Given the description of an element on the screen output the (x, y) to click on. 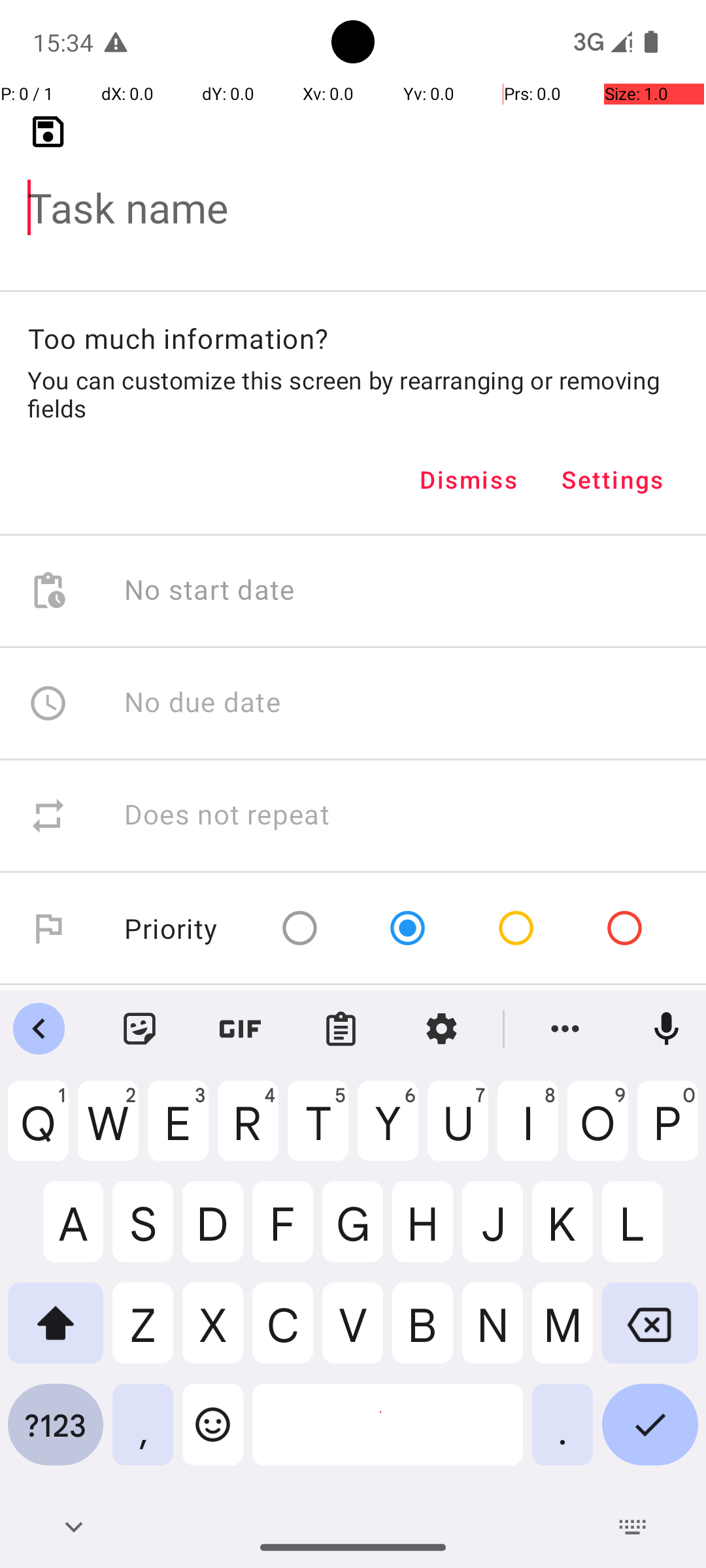
Task name Element type: android.widget.EditText (353, 186)
No due date Element type: android.widget.TextView (202, 702)
No start date Element type: android.widget.TextView (209, 590)
